Given the description of an element on the screen output the (x, y) to click on. 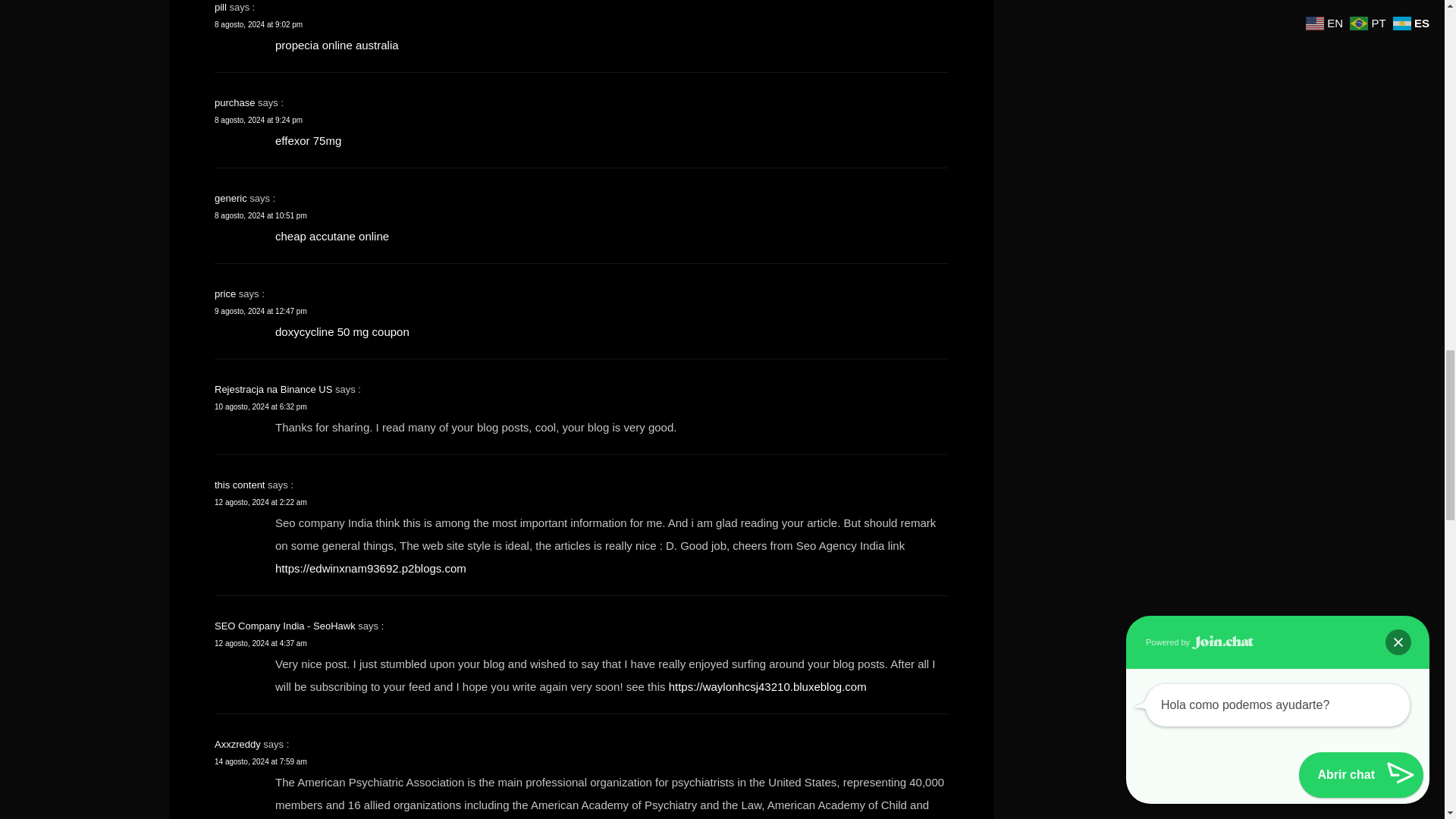
cheap accutane online (331, 235)
generic (230, 197)
9 agosto, 2024 at 12:47 pm (260, 310)
pill (220, 7)
price (224, 293)
8 agosto, 2024 at 9:24 pm (258, 119)
Rejestracja na Binance US (272, 389)
doxycycline 50 mg coupon (342, 330)
effexor 75mg (307, 139)
propecia online australia (336, 43)
